Given the description of an element on the screen output the (x, y) to click on. 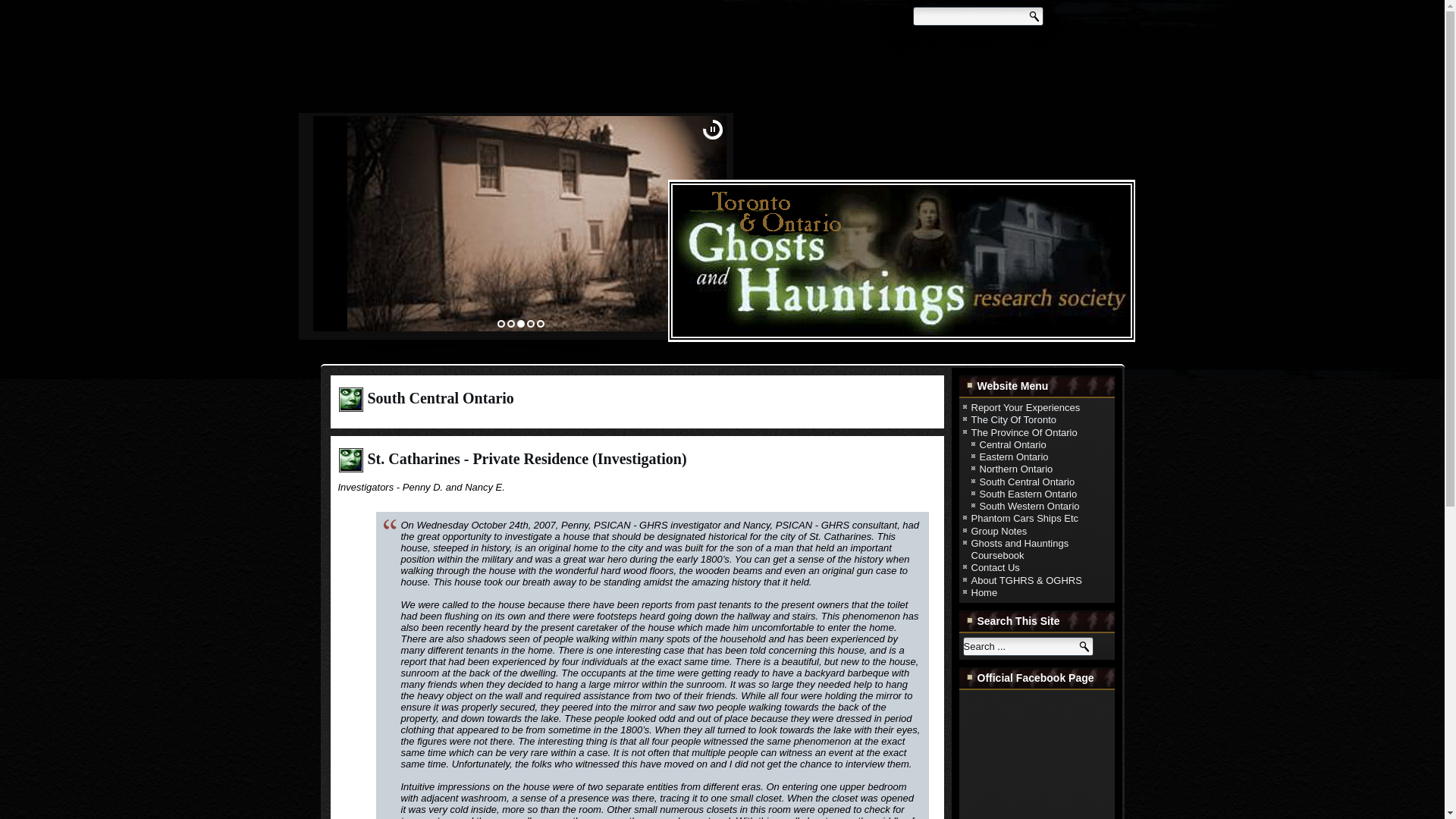
Group Notes (998, 530)
Phantom Cars Ships Etc (1024, 518)
Search ... (1027, 646)
Northern Ontario (1015, 469)
Home (984, 592)
South Central Ontario (1027, 481)
Eastern Ontario (1013, 456)
Ghosts and Hauntings Coursebook (1019, 549)
Report Your Experiences (1025, 407)
The Province Of Ontario (1024, 431)
Central Ontario (1012, 444)
South Western Ontario (1029, 505)
Contact Us (995, 567)
The City Of Toronto (1013, 419)
South Eastern Ontario (1028, 493)
